Given the description of an element on the screen output the (x, y) to click on. 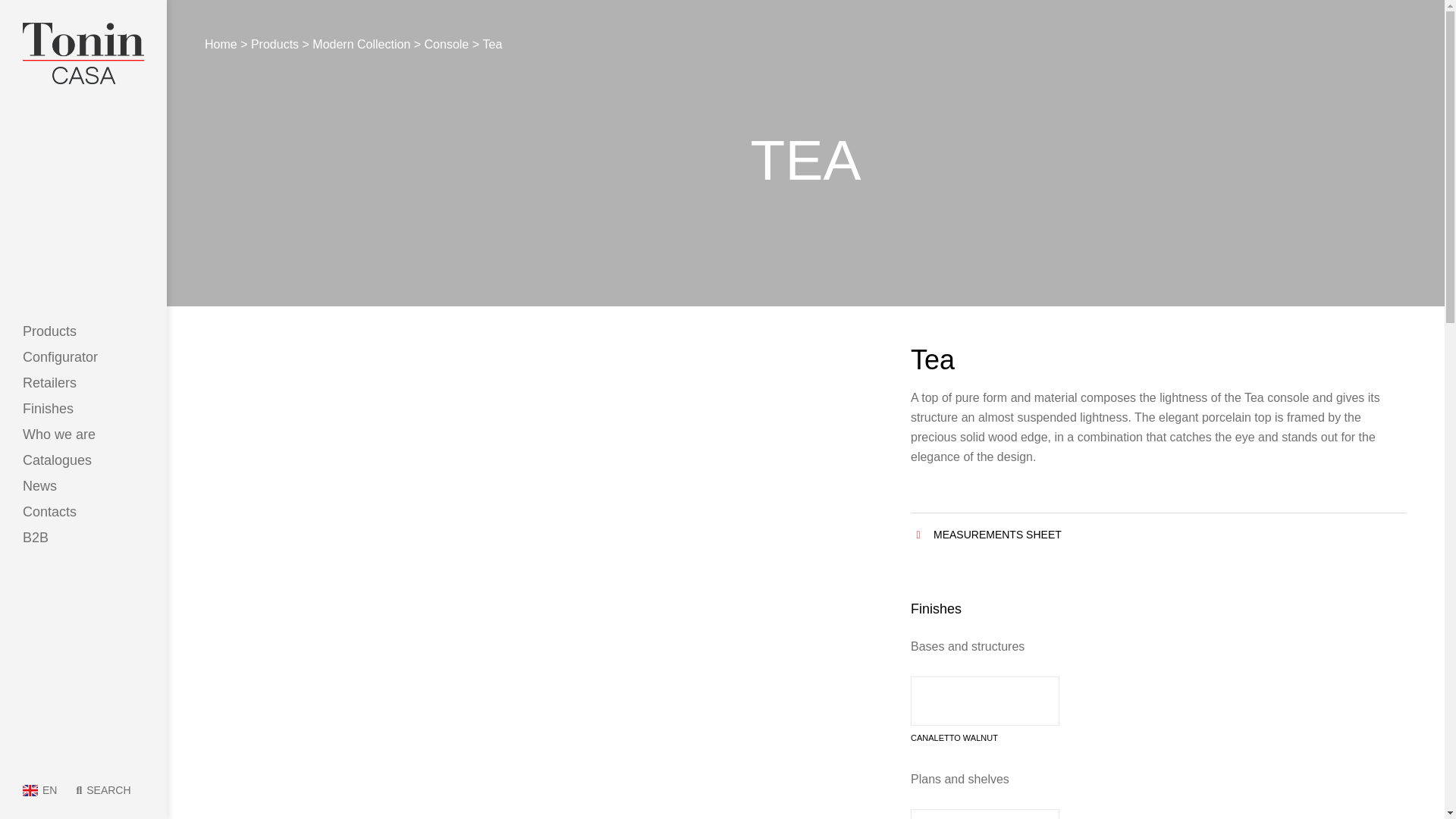
Who we are (83, 434)
Tonin Casa (83, 53)
MEASUREMENTS SHEET (1158, 534)
Finishes (83, 408)
Configurator (83, 356)
PORTORO (985, 814)
CANALETTO WALNUT (985, 709)
Console (446, 43)
Products (83, 330)
Catalogues (83, 460)
